Given the description of an element on the screen output the (x, y) to click on. 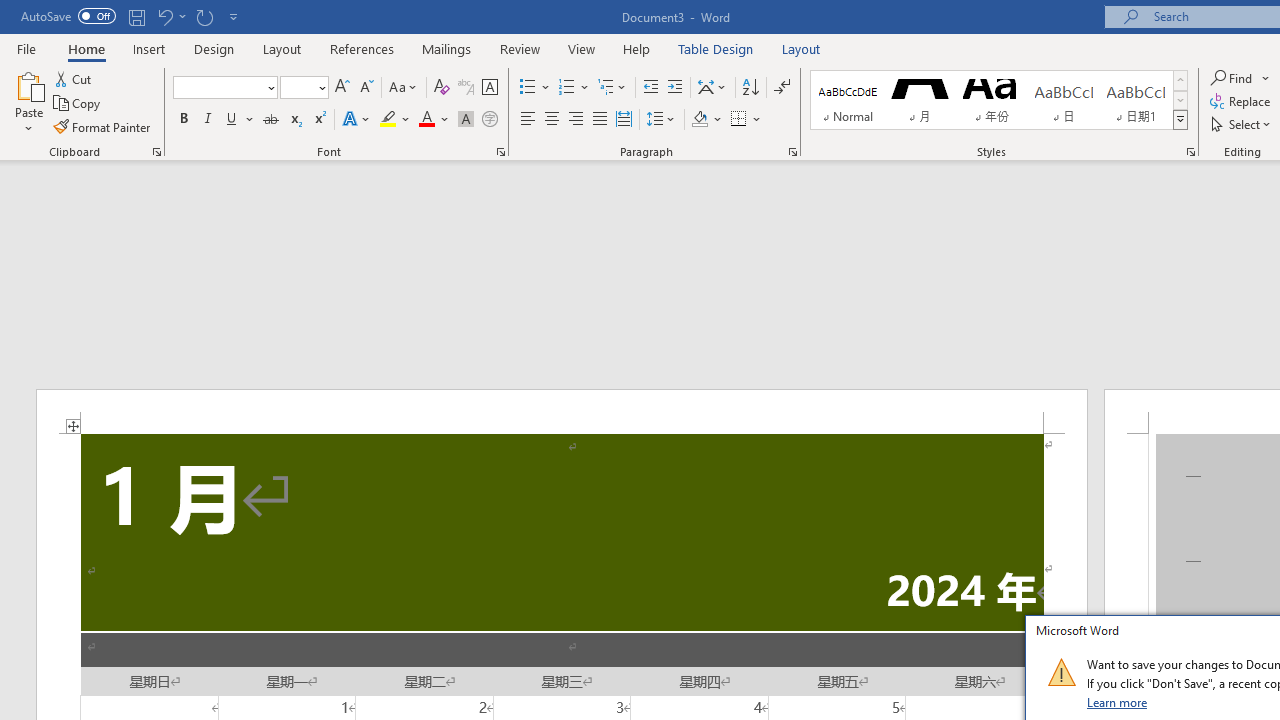
Undo Apply Quick Style (170, 15)
Shrink Font (365, 87)
Select (1242, 124)
Shading (706, 119)
Asian Layout (712, 87)
Decrease Indent (650, 87)
Bold (183, 119)
Justify (599, 119)
